Given the description of an element on the screen output the (x, y) to click on. 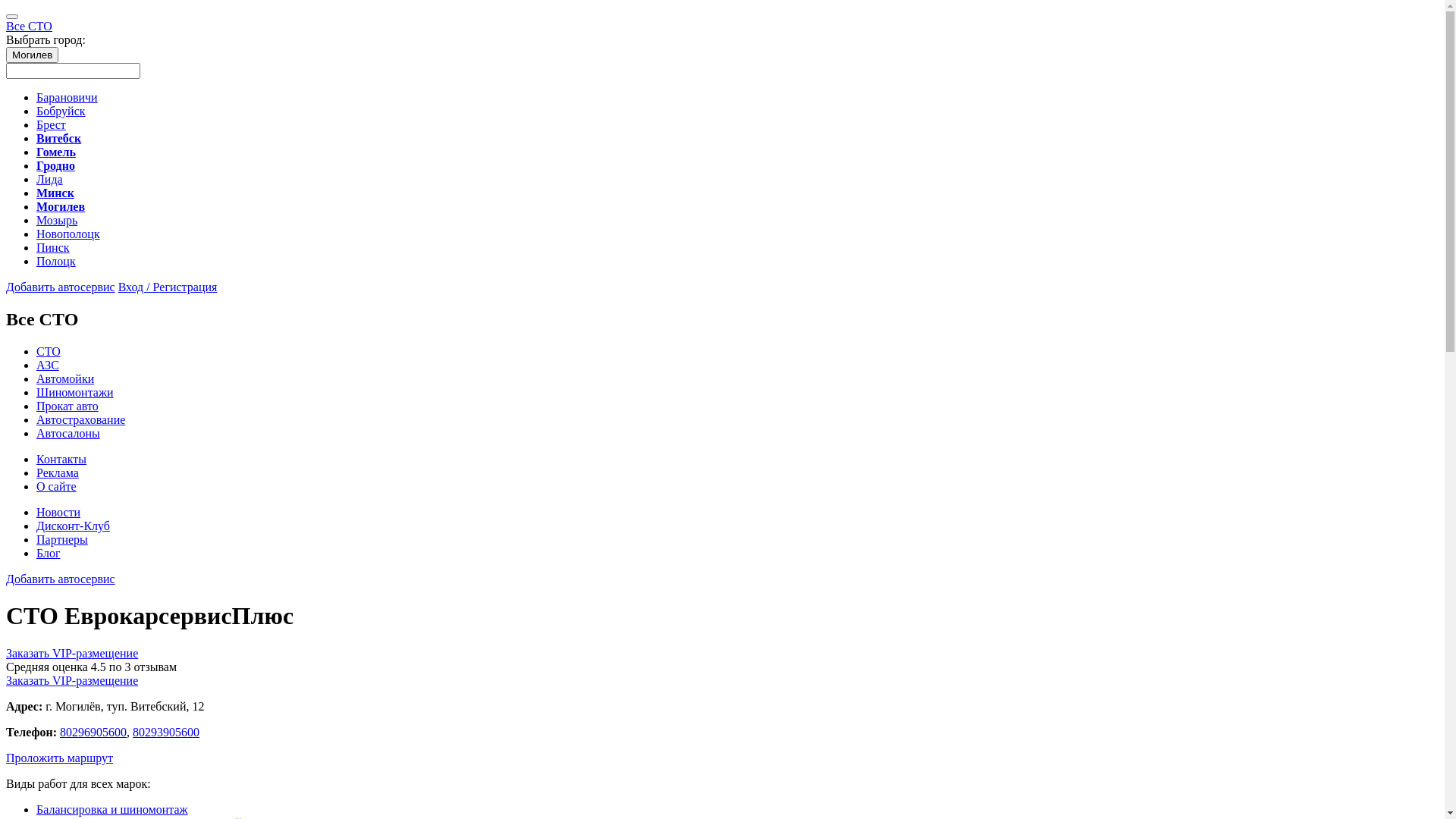
80293905600 Element type: text (165, 731)
80296905600 Element type: text (92, 731)
